Given the description of an element on the screen output the (x, y) to click on. 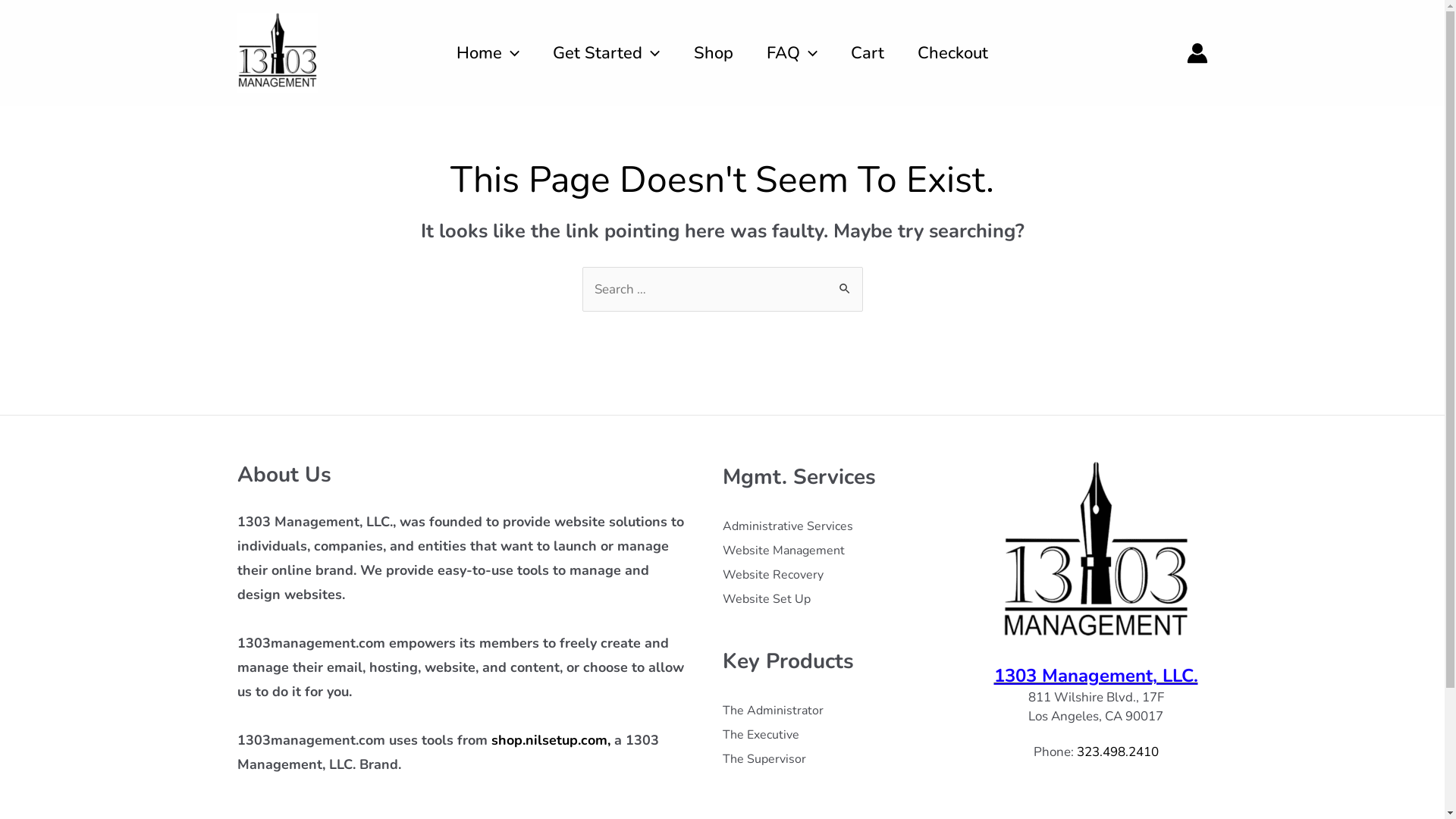
Shop Element type: text (713, 52)
323.498.2410 Element type: text (1117, 751)
Checkout Element type: text (952, 52)
The Supervisor Element type: text (763, 758)
Cart Element type: text (867, 52)
Get Started Element type: text (606, 52)
Website Recovery Element type: text (771, 574)
Administrative Services Element type: text (786, 525)
Website Management Element type: text (782, 550)
shop.nilsetup.com, Element type: text (550, 740)
The Administrator Element type: text (771, 710)
The Executive Element type: text (759, 734)
FAQ Element type: text (791, 52)
Website Set Up Element type: text (765, 598)
Search Element type: text (845, 282)
Home Element type: text (487, 52)
Log In Element type: text (681, 630)
